Given the description of an element on the screen output the (x, y) to click on. 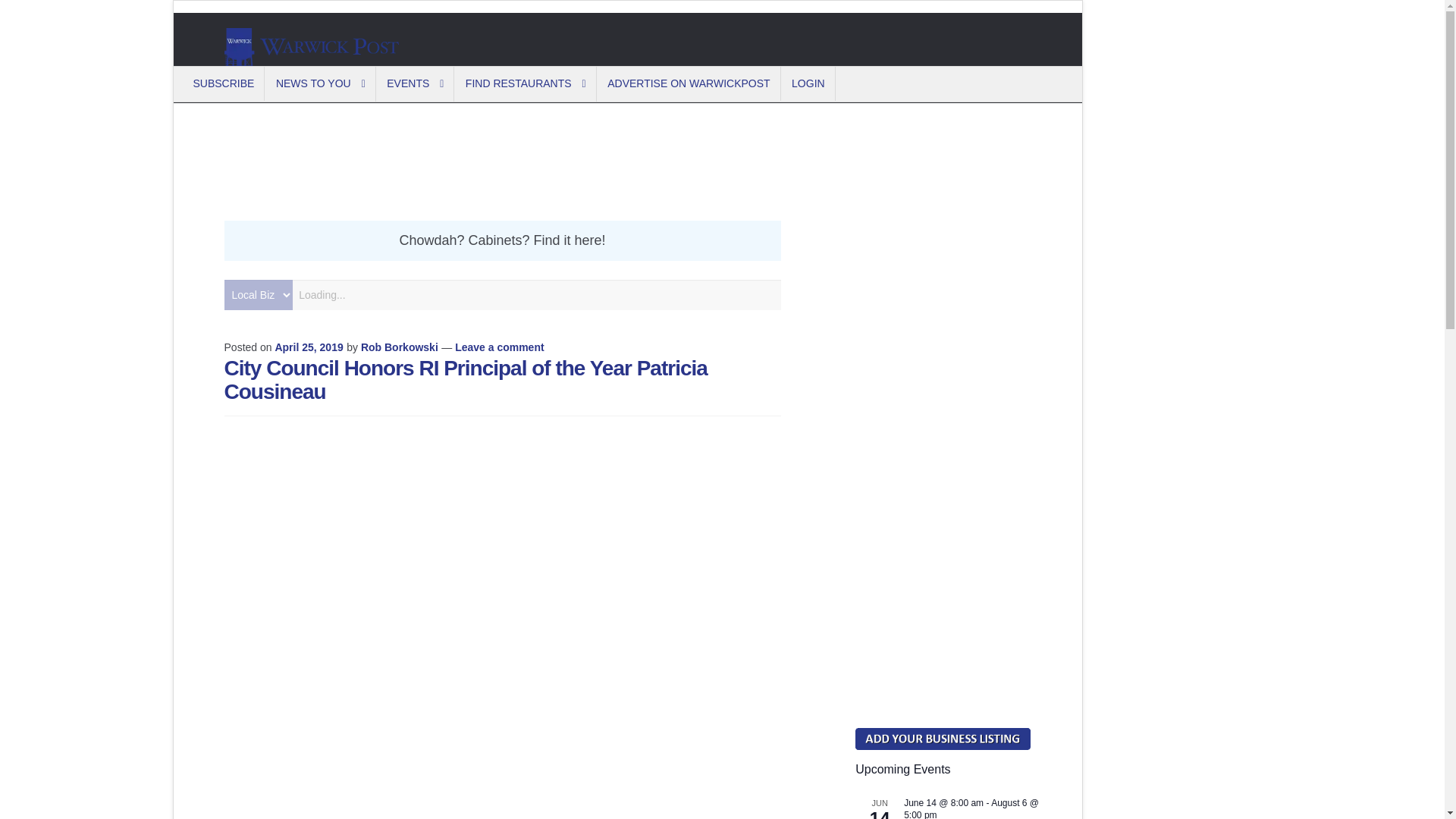
FIND RESTAURANTS (526, 83)
NEWS TO YOU (321, 83)
SUBSCRIBE (223, 83)
EVENTS (415, 83)
